Given the description of an element on the screen output the (x, y) to click on. 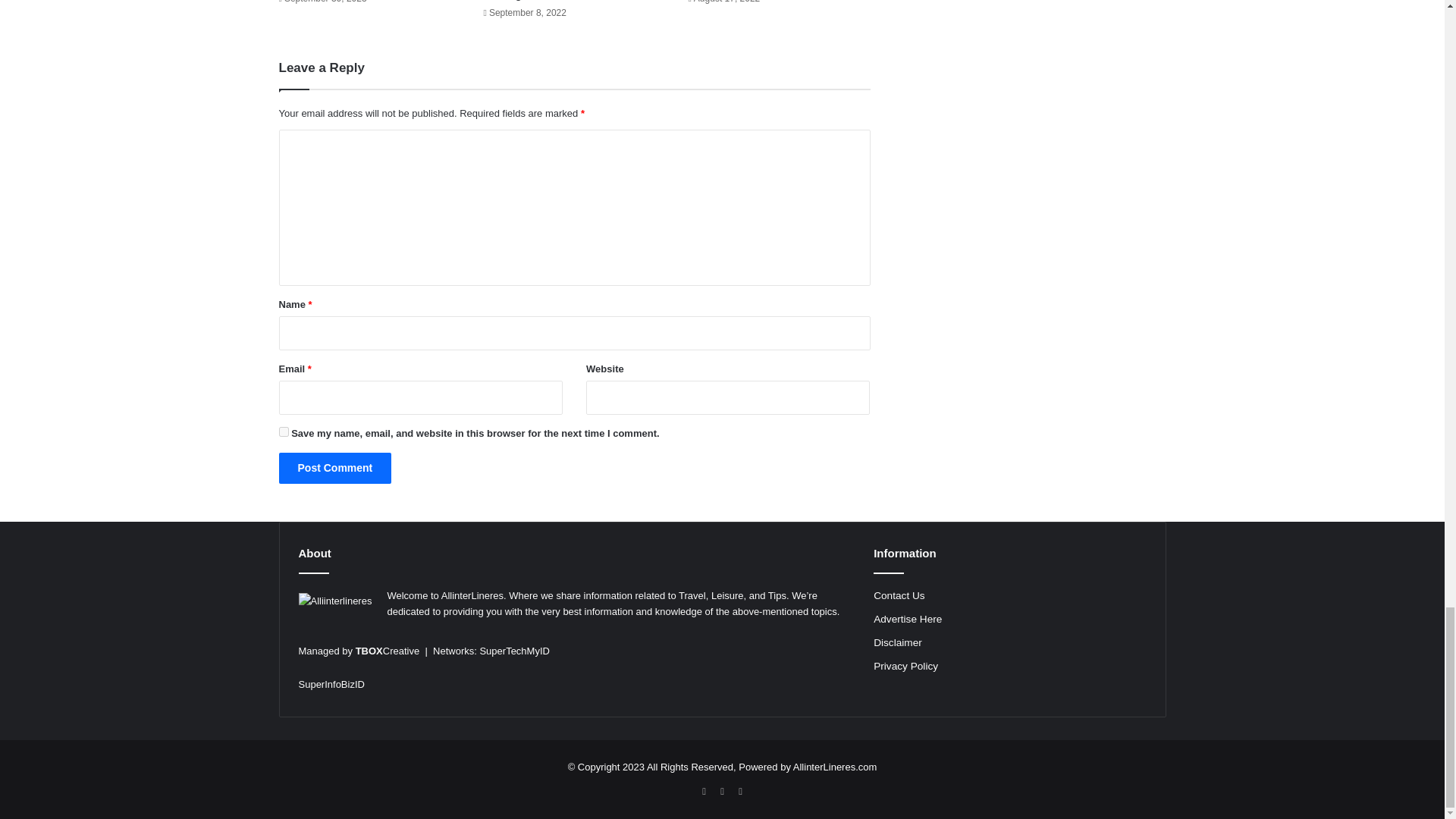
yes (283, 431)
Post Comment (335, 468)
Post Comment (335, 468)
